Given the description of an element on the screen output the (x, y) to click on. 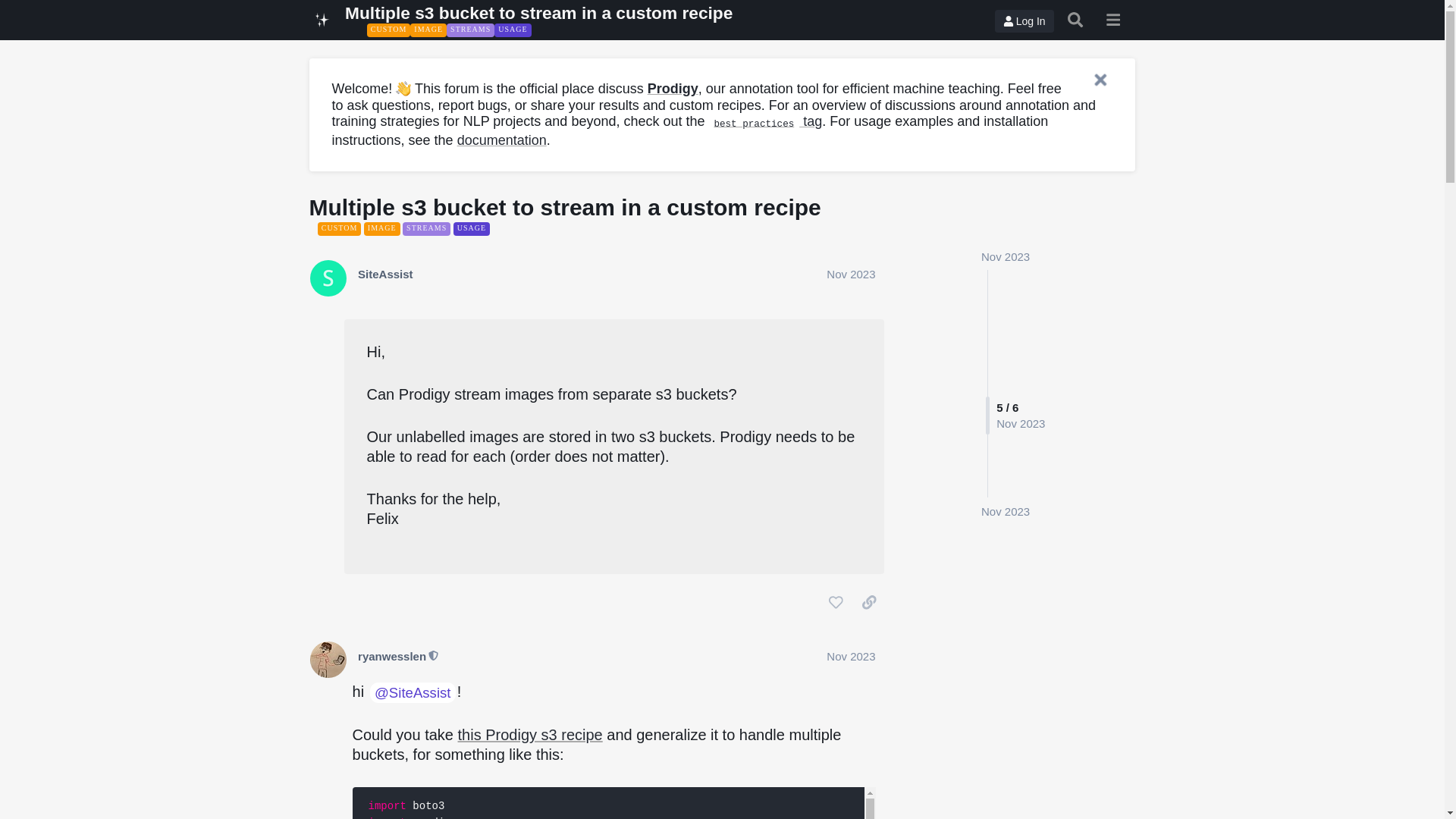
Post date (851, 273)
USAGE (513, 29)
:wave: (403, 88)
Log In (1024, 20)
CUSTOM (388, 29)
Prodigy (672, 88)
this Prodigy s3 recipe (530, 734)
Search (1075, 20)
Multiple s3 bucket to stream in a custom recipe (538, 12)
Nov 2023 (851, 656)
menu (1113, 20)
Jump to the first post (1005, 256)
share a link to this post (868, 601)
Nov 2023 (1005, 511)
documentation (502, 140)
